Given the description of an element on the screen output the (x, y) to click on. 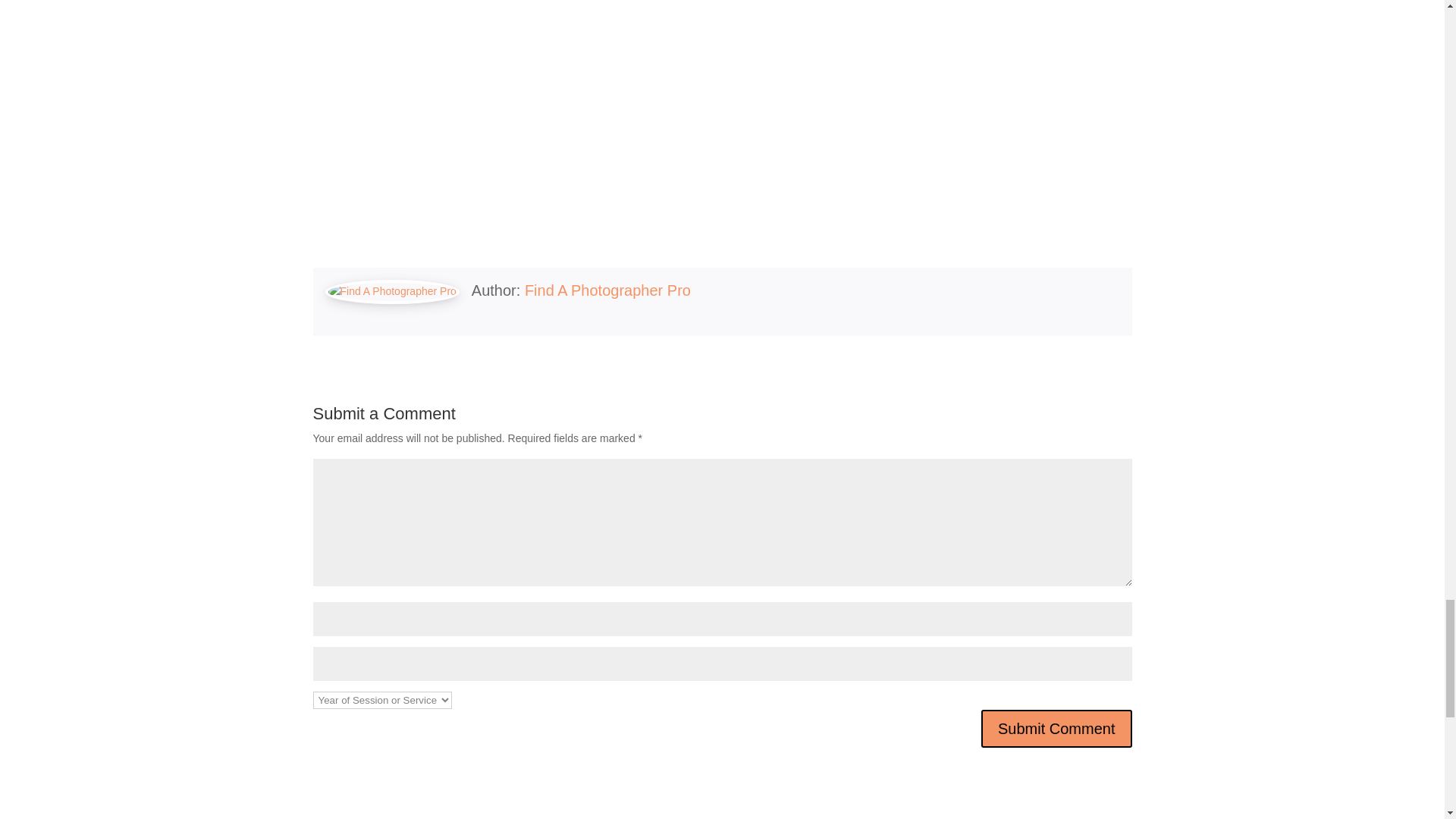
Submit Comment (1056, 728)
